Given the description of an element on the screen output the (x, y) to click on. 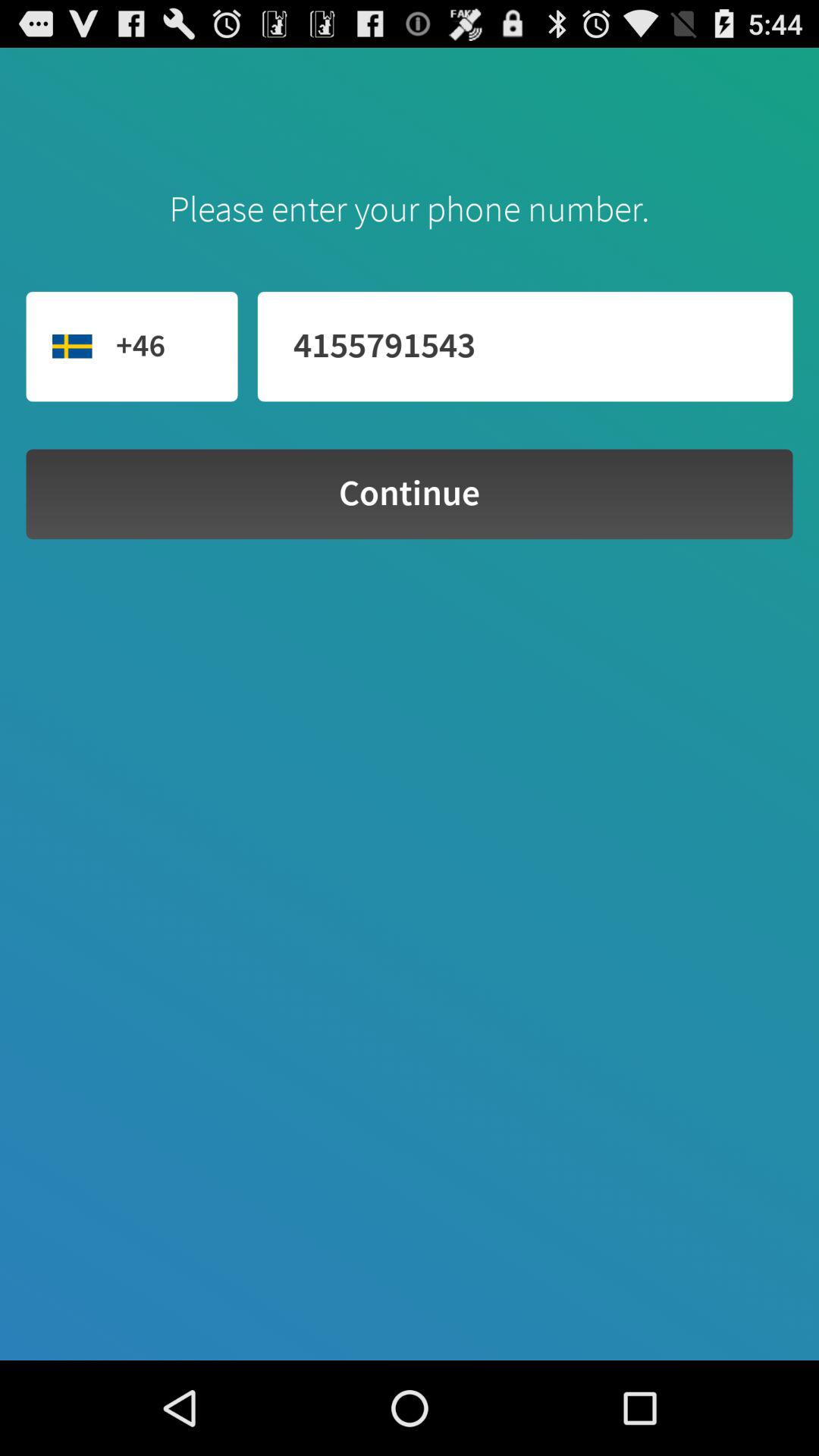
launch the icon below please enter your (524, 346)
